Given the description of an element on the screen output the (x, y) to click on. 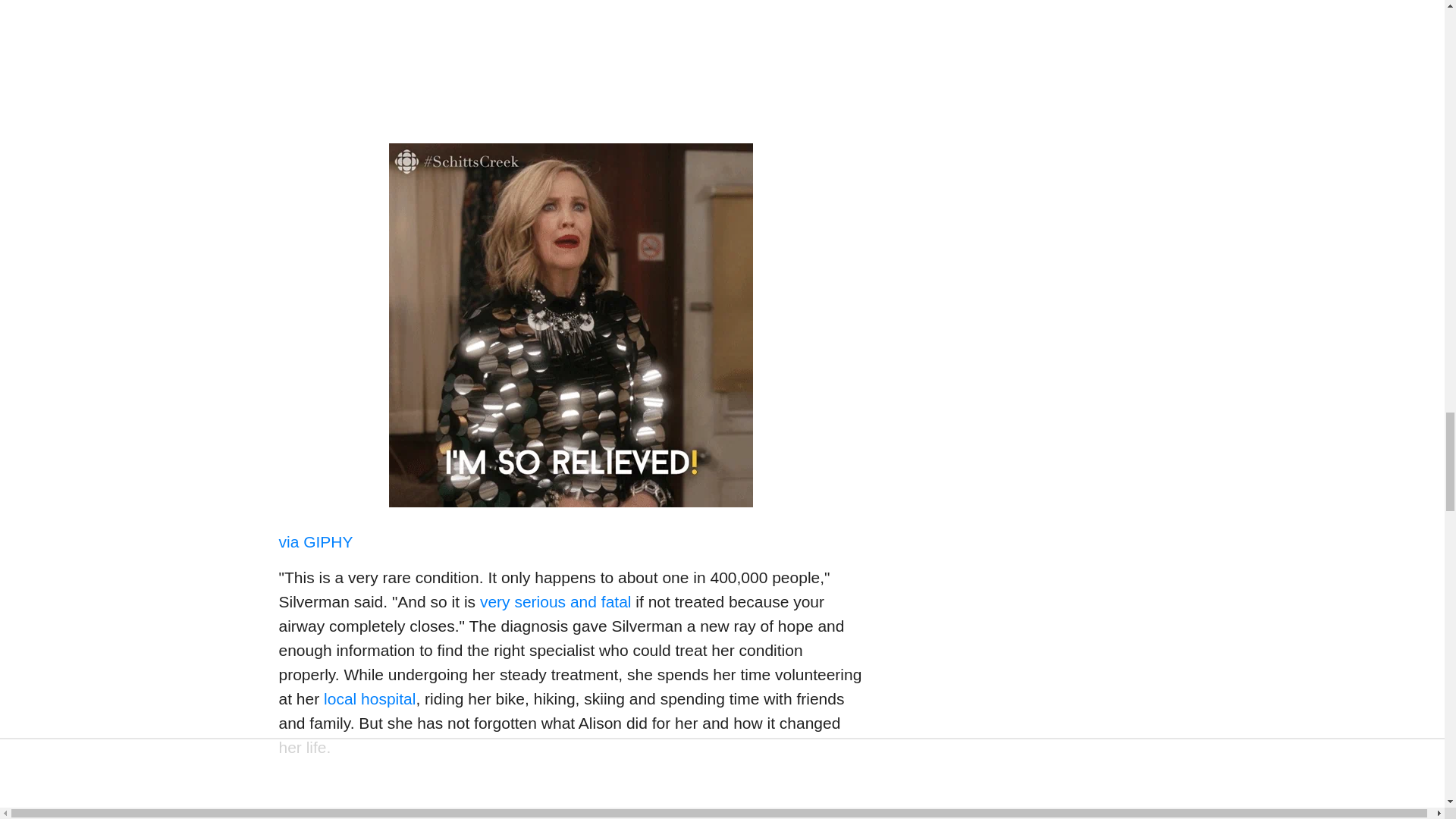
 local hospital (366, 698)
via GIPHY (316, 541)
very serious and fatal (555, 601)
